Given the description of an element on the screen output the (x, y) to click on. 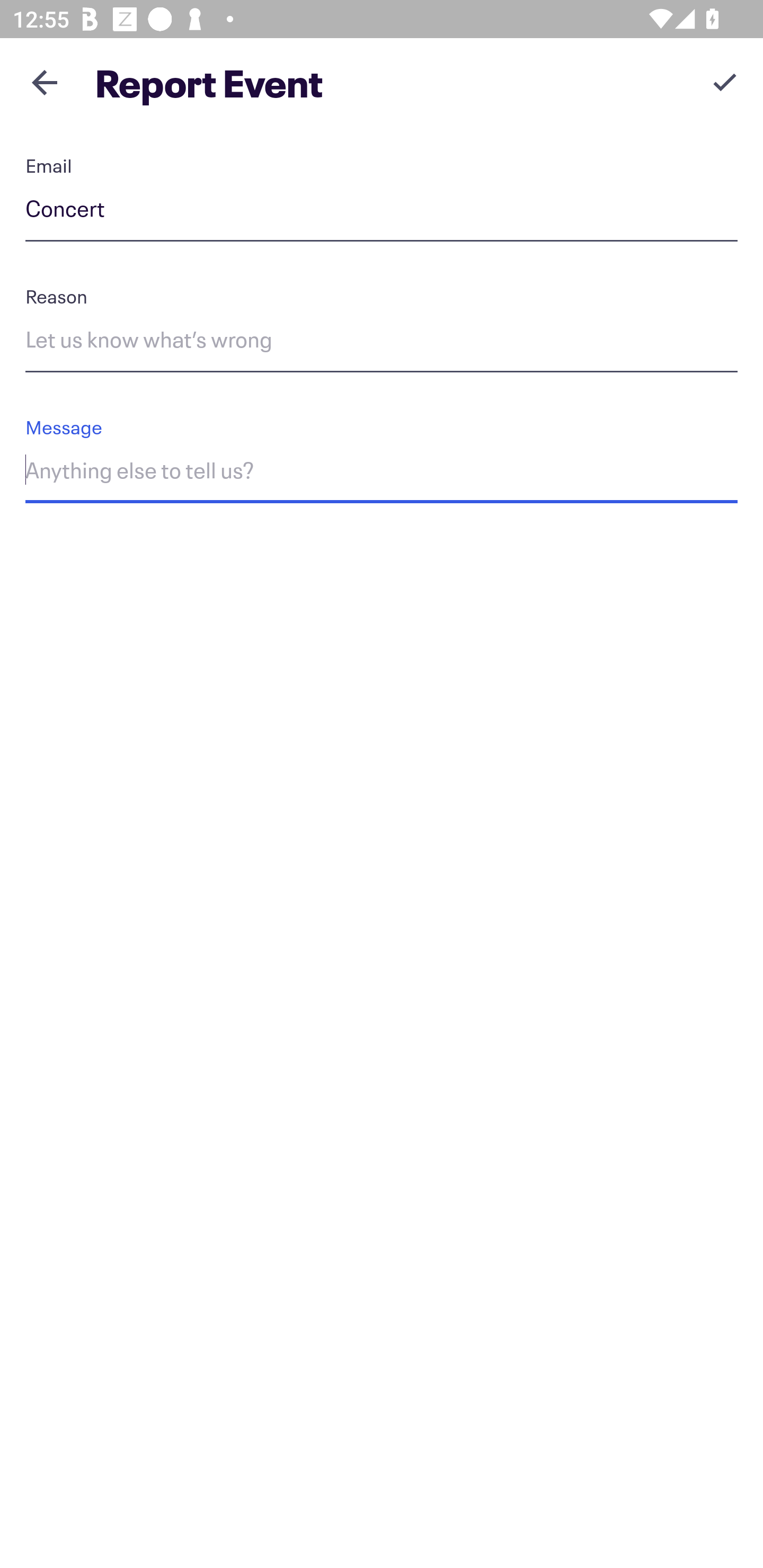
Navigate up (44, 82)
Save (724, 81)
Concert (381, 211)
Let us know what’s wrong (381, 342)
Anything else to tell us? (381, 473)
